Given the description of an element on the screen output the (x, y) to click on. 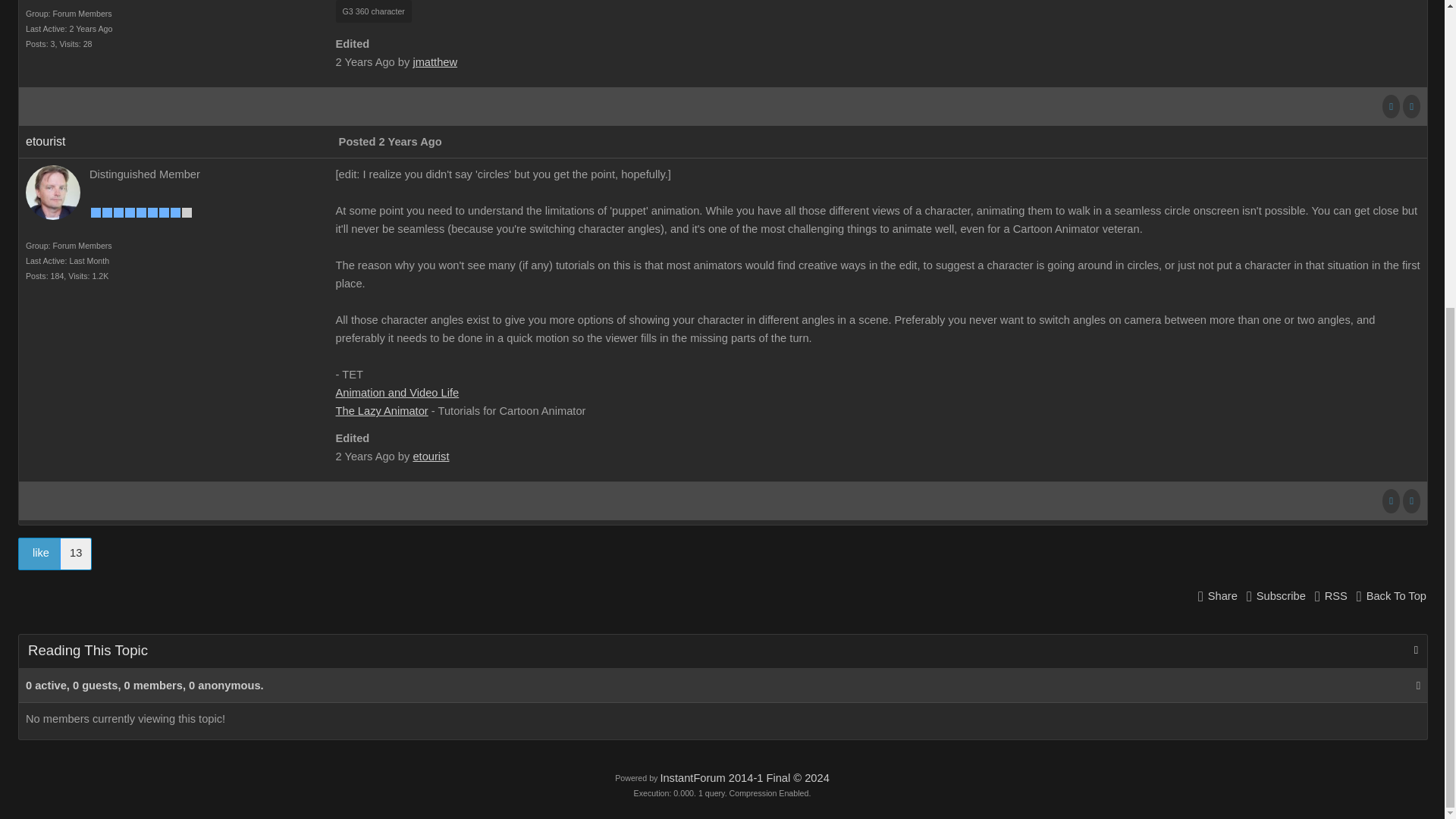
G3 360 character (374, 11)
jmatthew (434, 61)
